Given the description of an element on the screen output the (x, y) to click on. 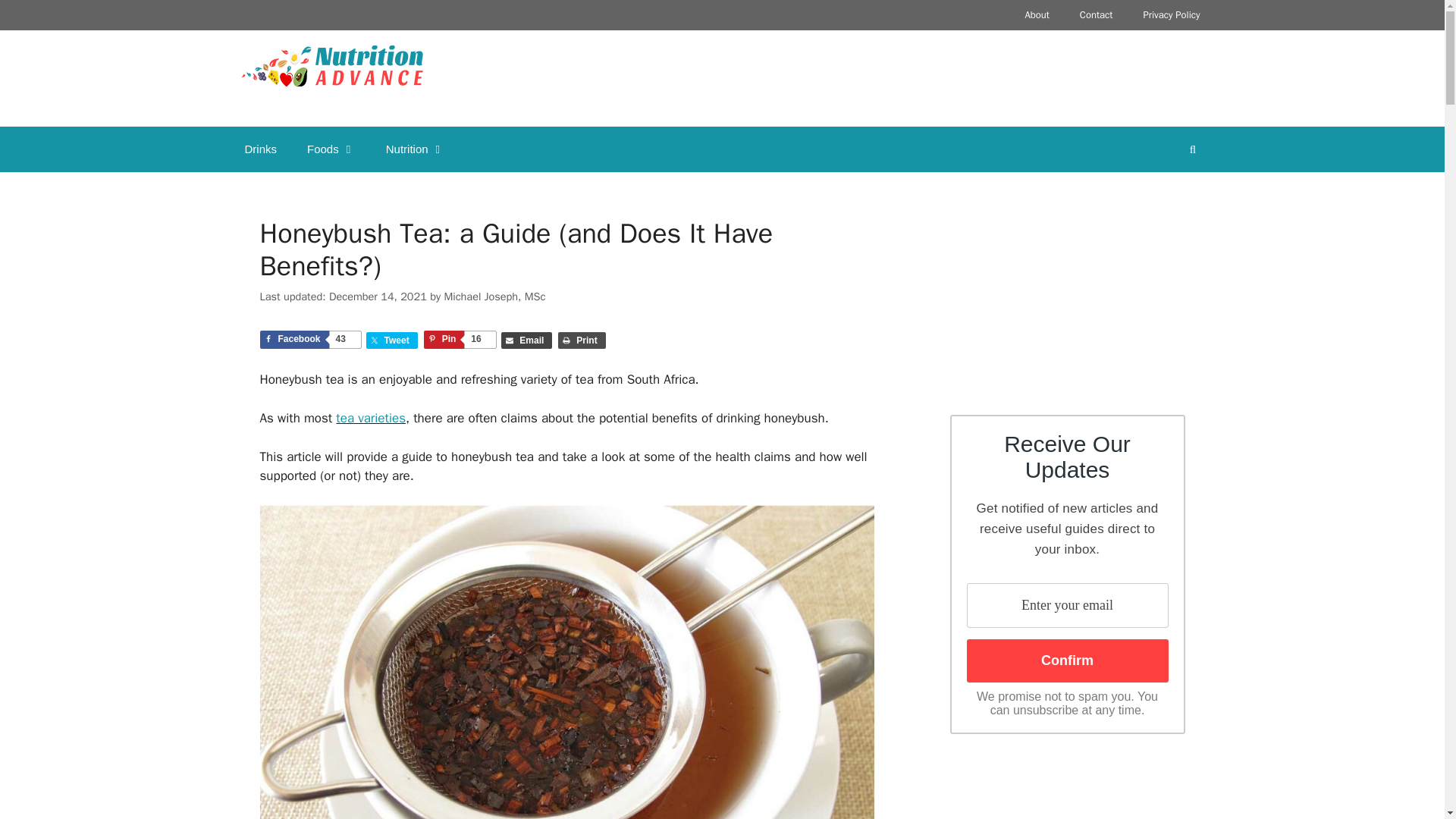
Share on Pinterest (459, 339)
About (1036, 15)
Confirm (1066, 660)
View all posts by Michael Joseph, MSc (494, 296)
Share on Twitter (391, 340)
Share on Facebook (309, 339)
Privacy Policy (1170, 15)
Print this Page (581, 340)
Contact (1096, 15)
Tweet (391, 340)
